Given the description of an element on the screen output the (x, y) to click on. 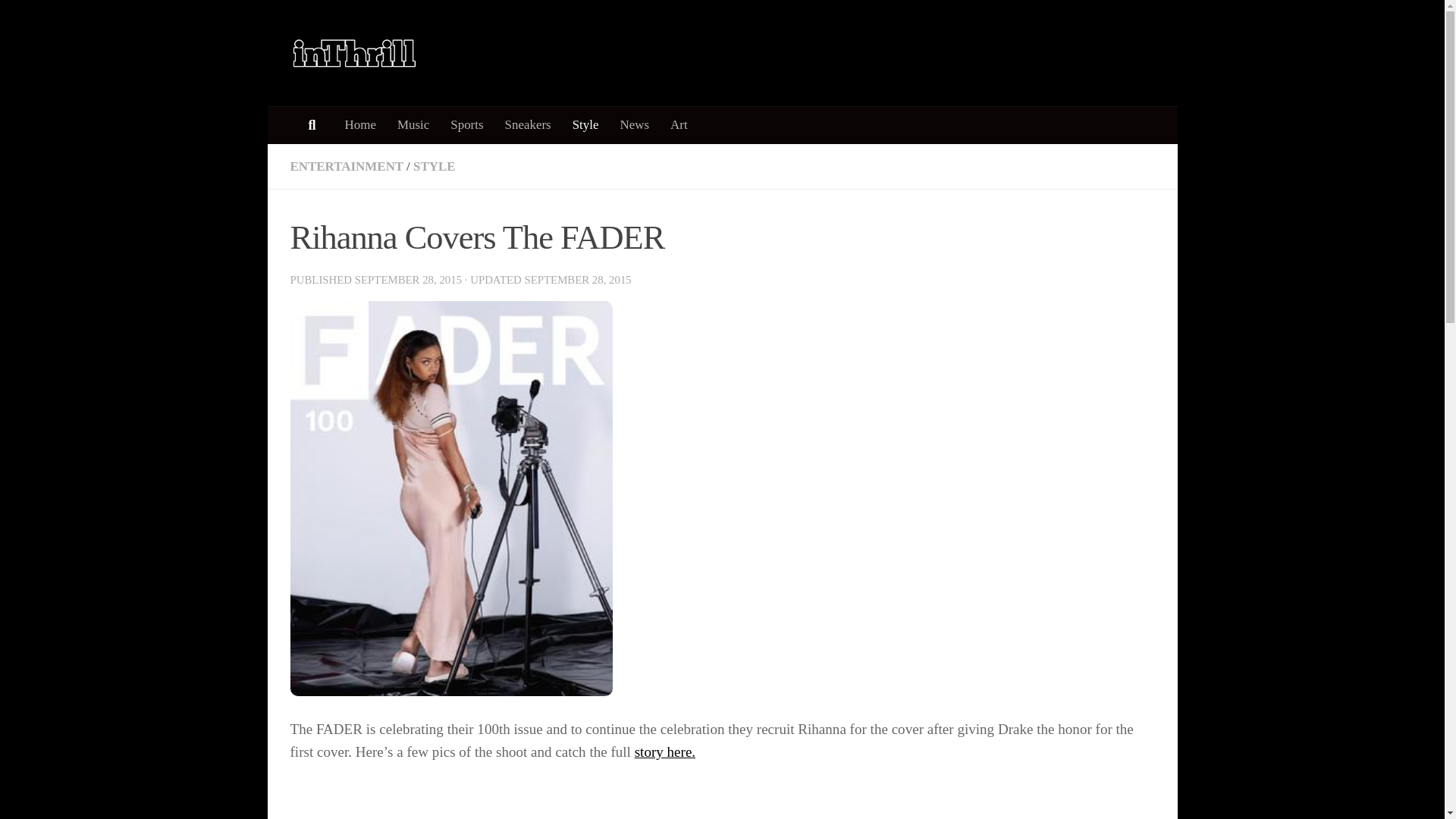
Home (359, 125)
News (635, 125)
ENTERTAINMENT (346, 165)
Style (586, 125)
Sports (466, 125)
Read The Story  (664, 751)
STYLE (434, 165)
Music (413, 125)
story here. (664, 751)
Skip to content (61, 21)
Sneakers (528, 125)
Art (678, 125)
